Given the description of an element on the screen output the (x, y) to click on. 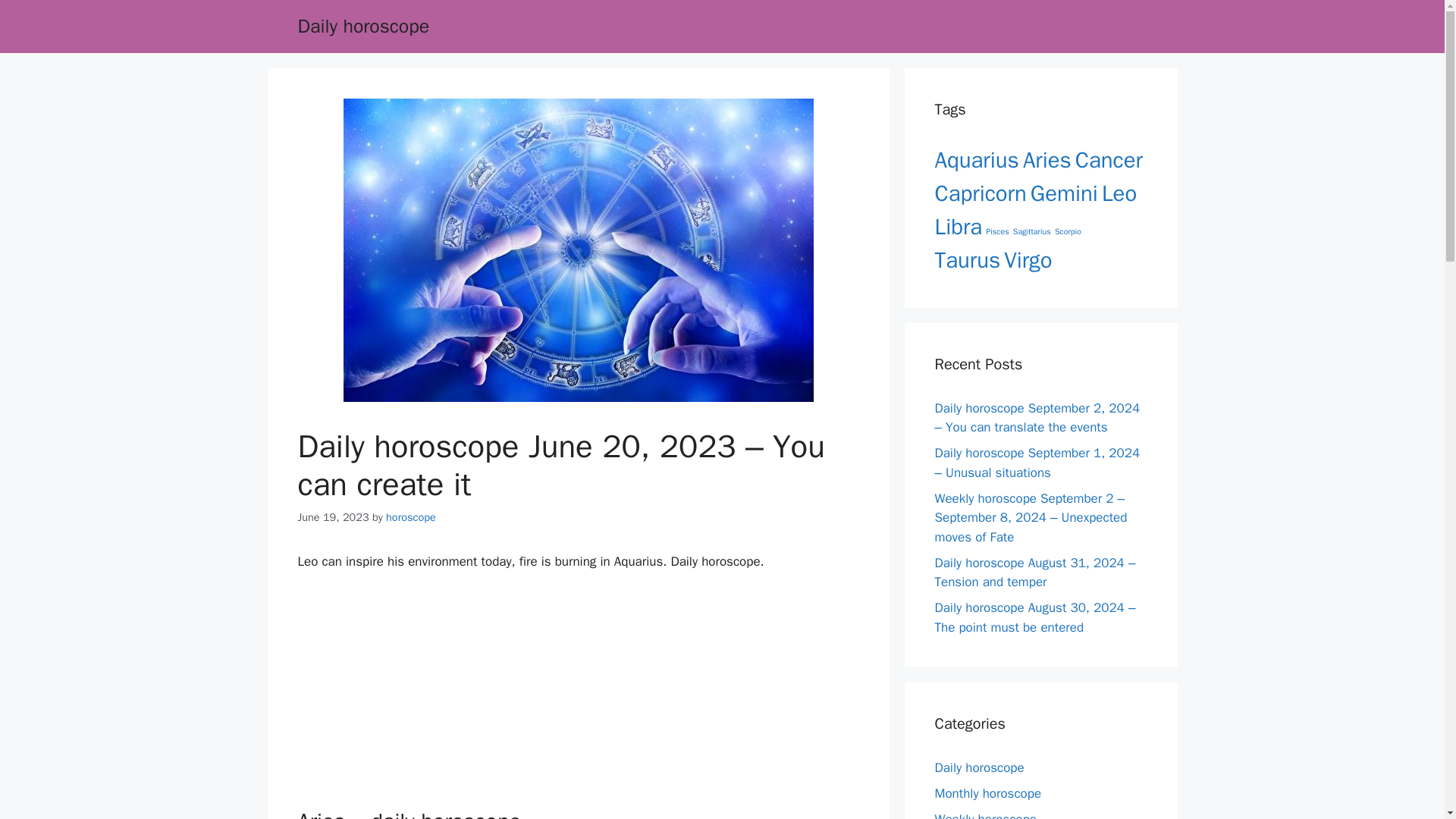
Leo (1119, 193)
horoscope (410, 517)
Libra (957, 226)
Monthly horoscope (987, 793)
Sagittarius (1032, 231)
Virgo (1027, 260)
Taurus (967, 260)
Gemini (1063, 193)
Capricorn (980, 193)
Cancer (1108, 160)
